Given the description of an element on the screen output the (x, y) to click on. 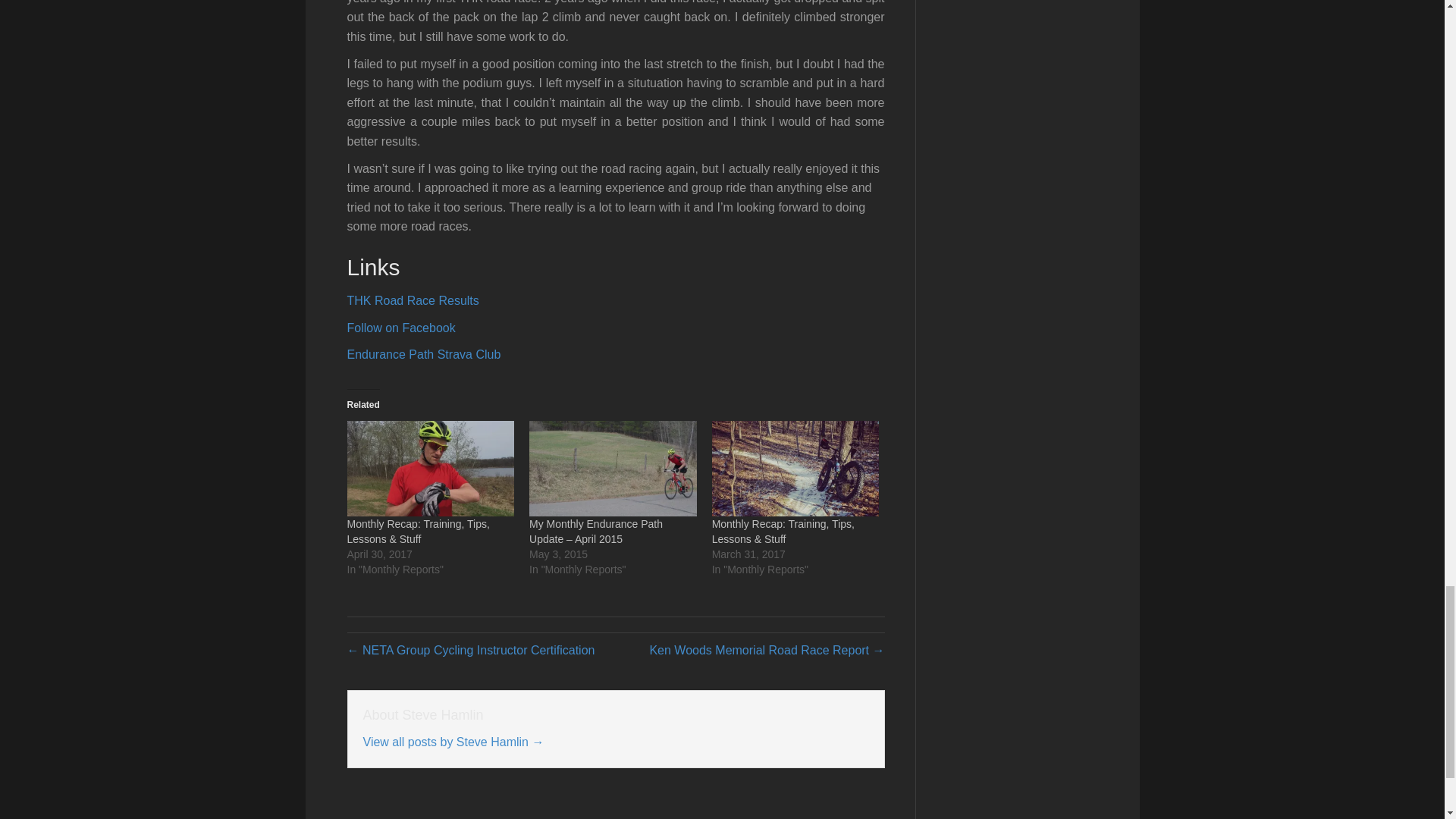
Follow on Facebook (401, 327)
THK Road Race Results (413, 300)
Endurance Path Strava Club (423, 354)
